Given the description of an element on the screen output the (x, y) to click on. 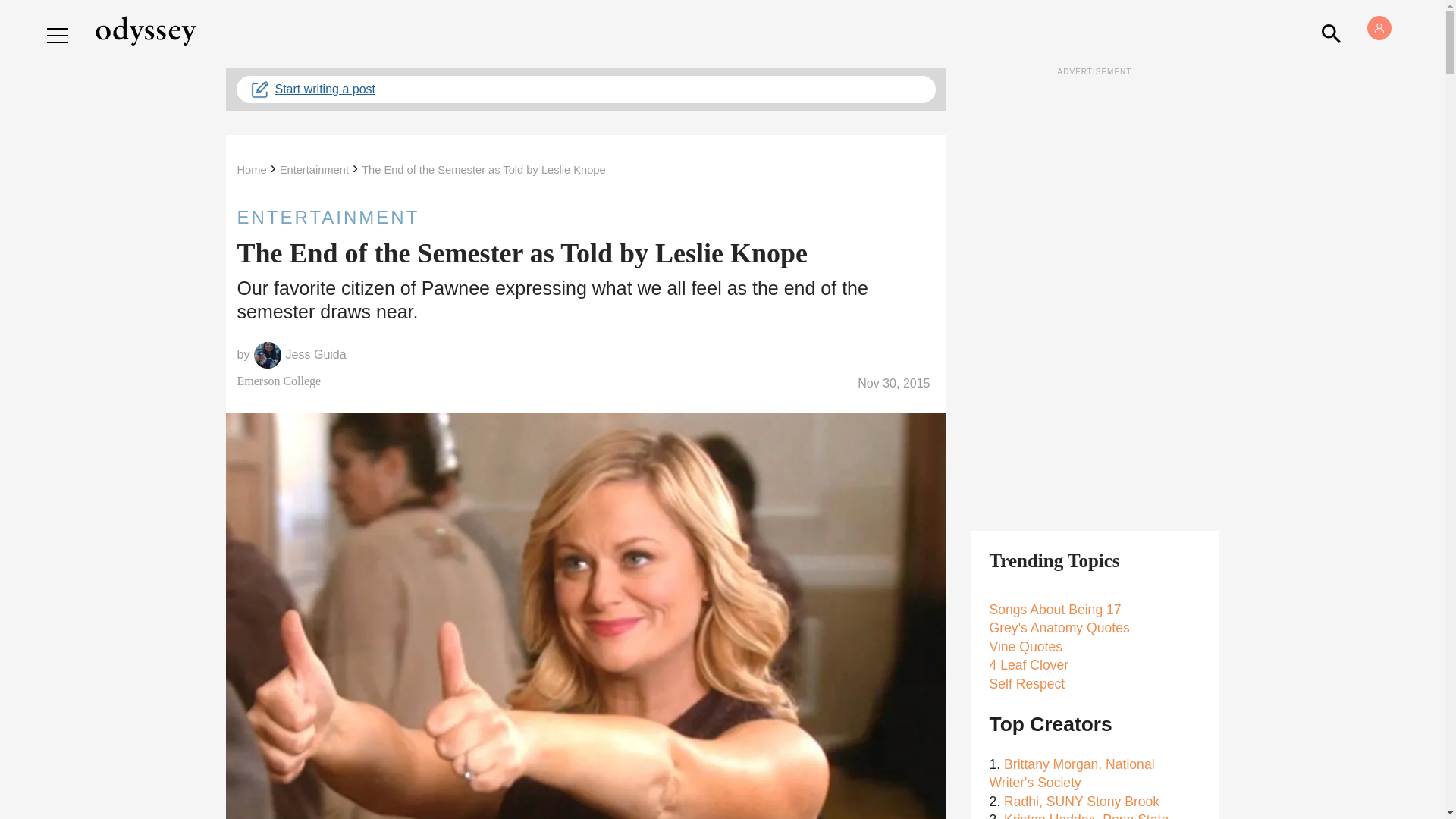
Entertainment (314, 169)
Start writing a post (585, 89)
ENTERTAINMENT (584, 217)
Jess Guida (315, 354)
Home (250, 169)
The End of the Semester as Told by Leslie Knope (483, 169)
